Given the description of an element on the screen output the (x, y) to click on. 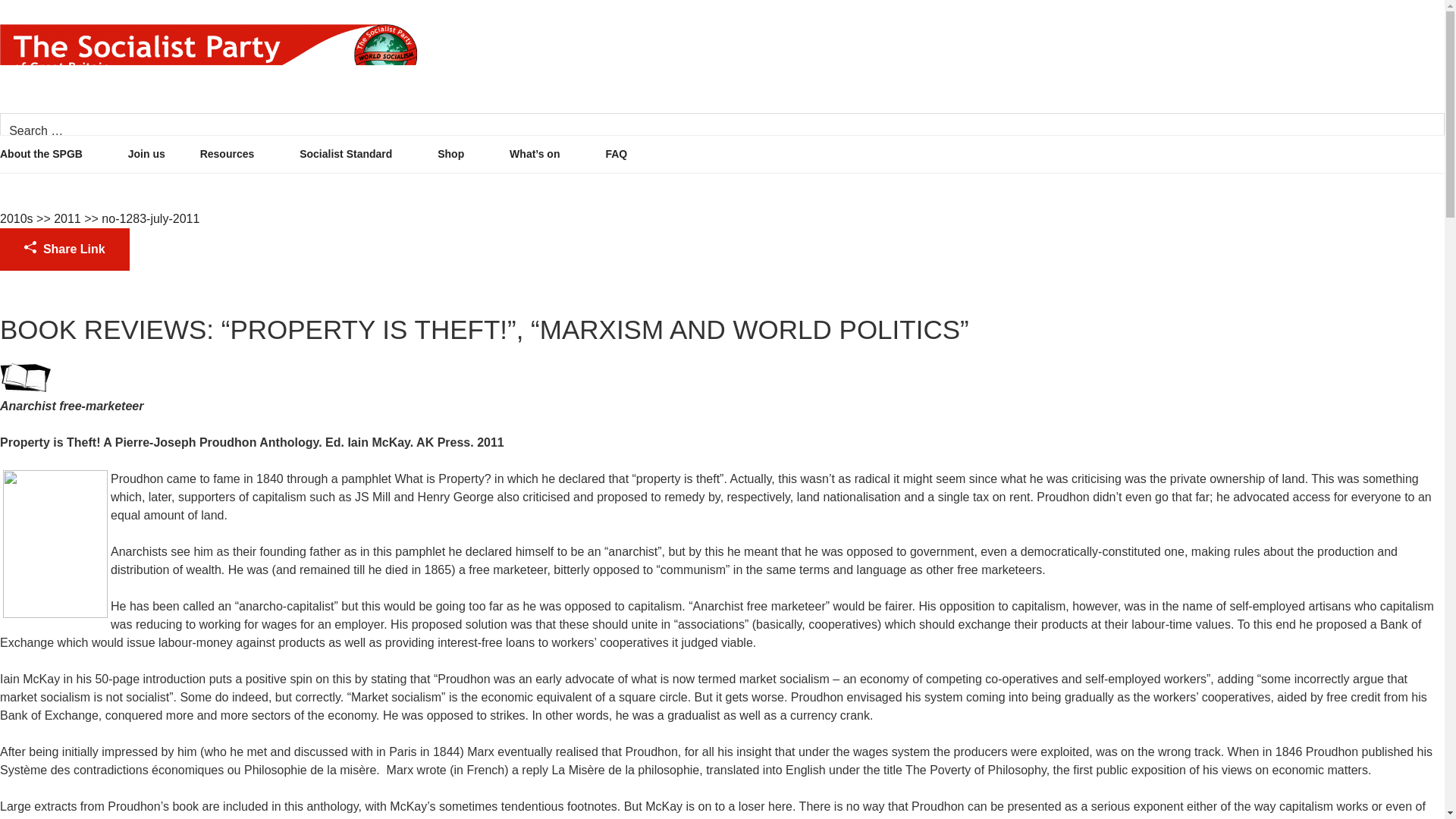
About the SPGB (62, 153)
Resources (248, 153)
Join us (162, 153)
Search (1405, 131)
